Given the description of an element on the screen output the (x, y) to click on. 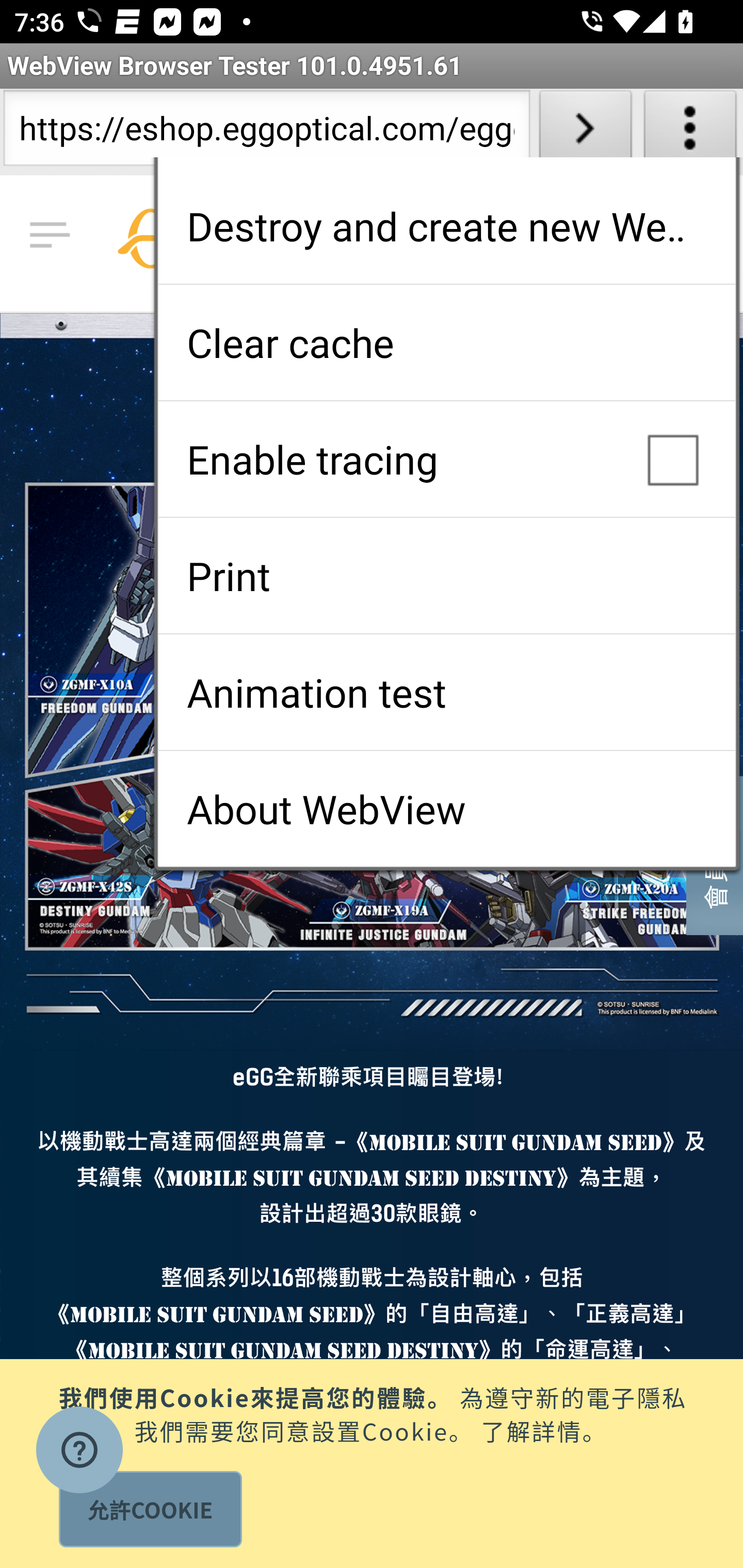
Destroy and create new WebView (446, 225)
Clear cache (446, 342)
Enable tracing (446, 459)
Print (446, 575)
Animation test (446, 692)
About WebView (446, 809)
